Given the description of an element on the screen output the (x, y) to click on. 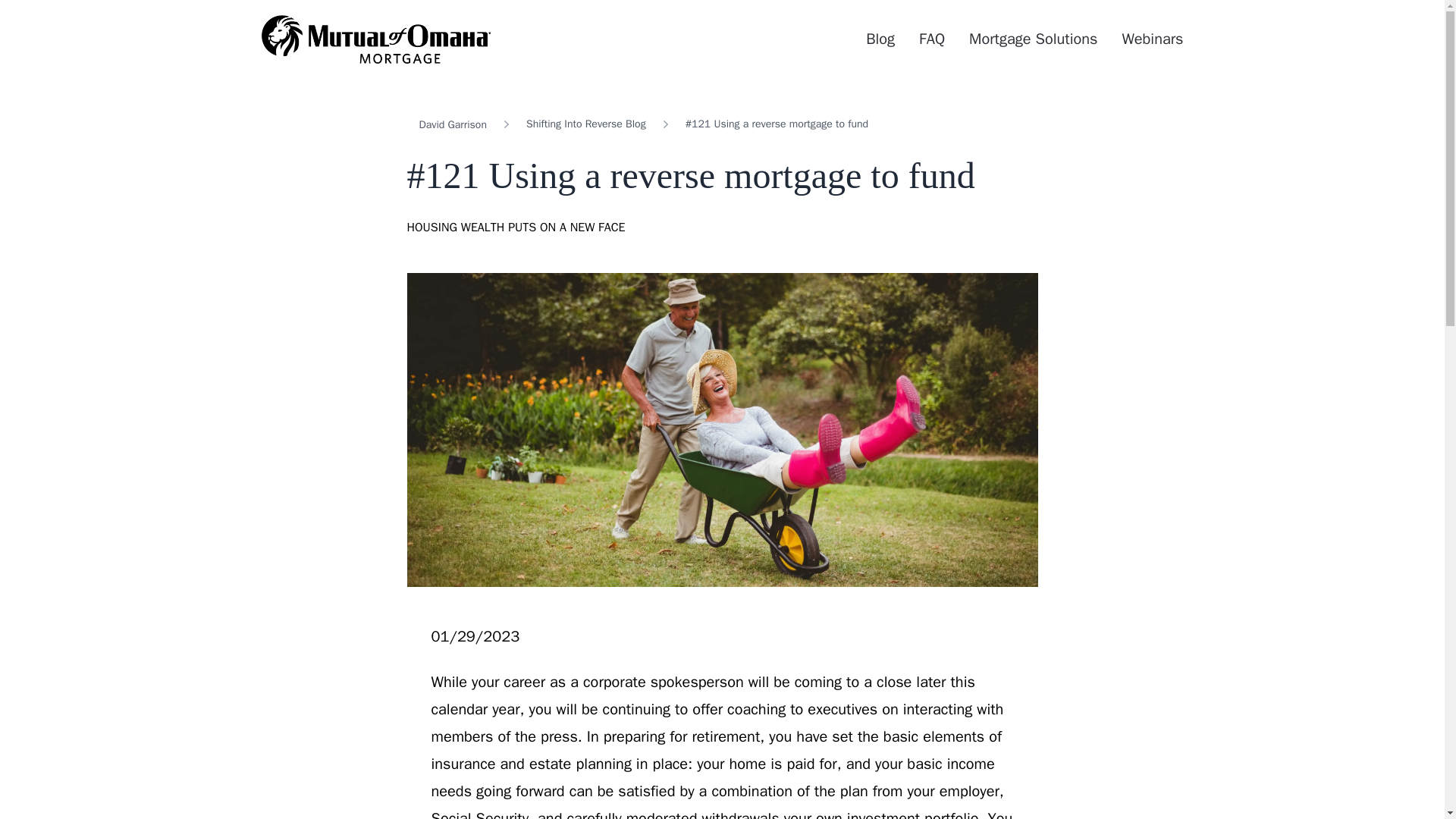
David Garrison (452, 124)
Mortgage Solutions (1033, 38)
FAQ (931, 38)
Blog (880, 38)
Webinars (1151, 38)
Shifting Into Reverse Blog (585, 124)
